Given the description of an element on the screen output the (x, y) to click on. 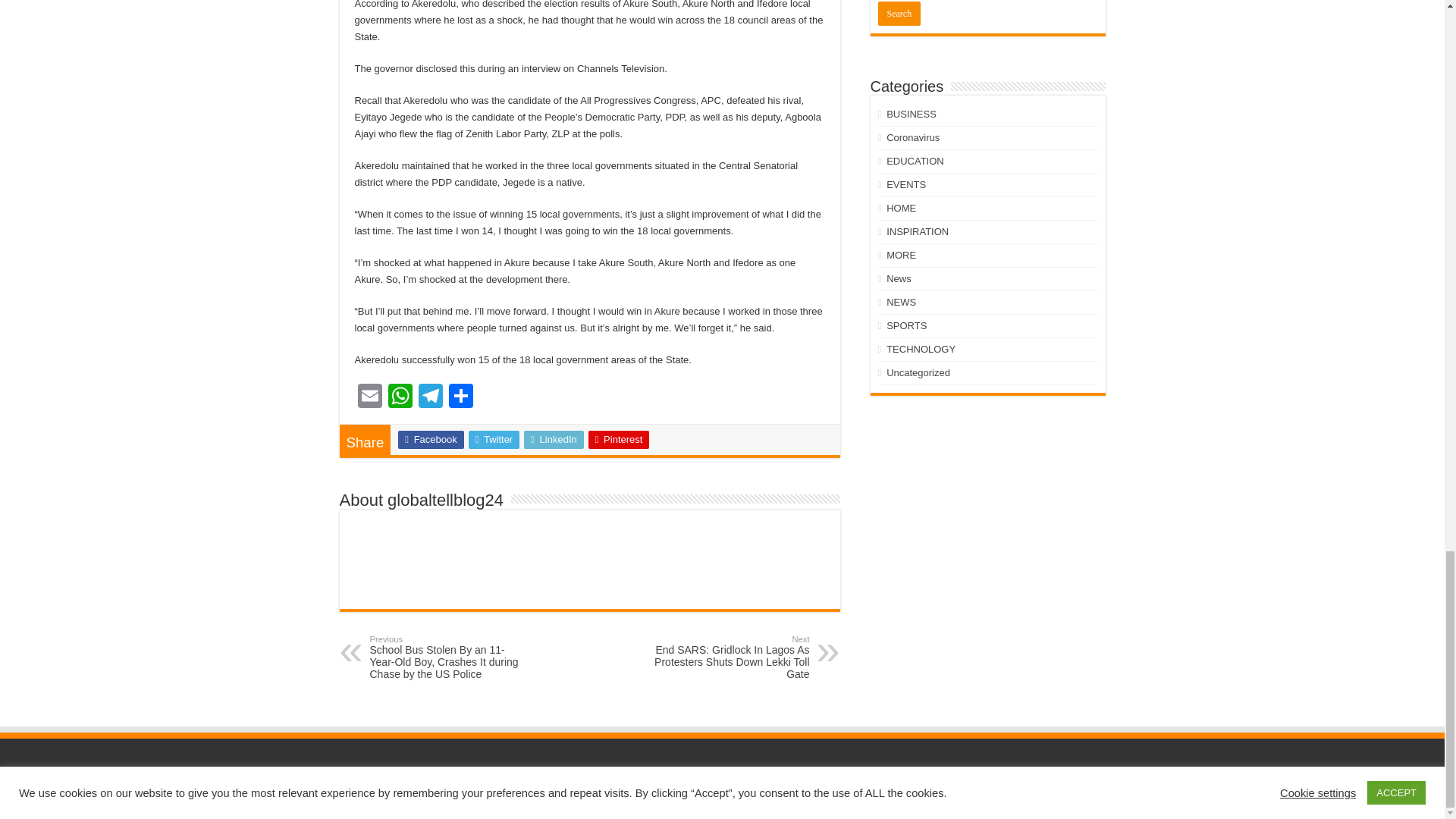
Search (899, 13)
Search (899, 13)
